Given the description of an element on the screen output the (x, y) to click on. 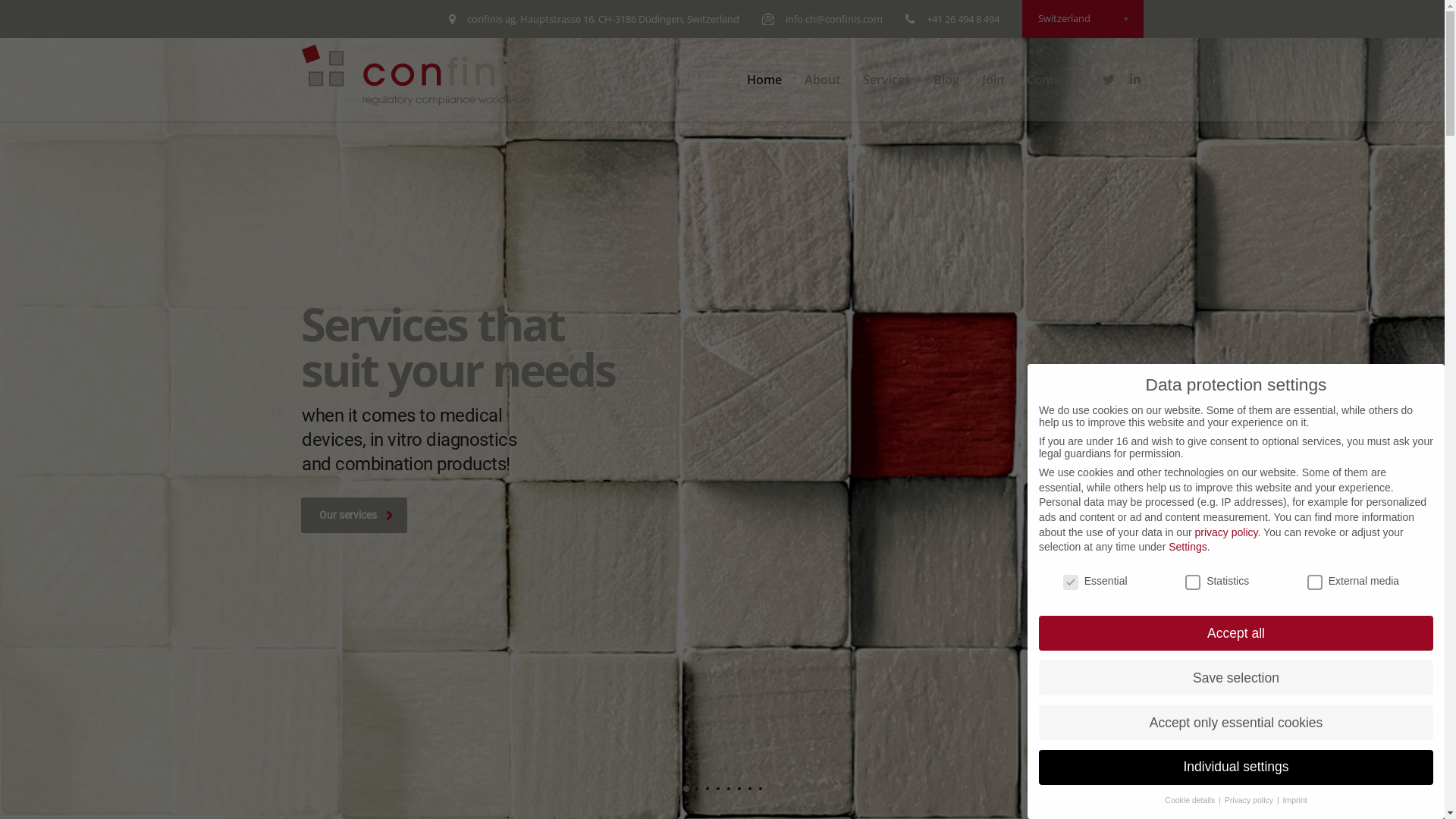
Contact Element type: text (1048, 79)
Settings Element type: text (1187, 546)
Accept only essential cookies Element type: text (1235, 722)
Accept all Element type: text (1235, 632)
Cookie details Element type: text (1190, 799)
  Element type: text (1136, 79)
Blog Element type: text (946, 79)
Home Element type: text (764, 79)
Our services Element type: text (354, 515)
Imprint Element type: text (1295, 799)
Save selection Element type: text (1235, 677)
Join Element type: text (992, 79)
  Element type: text (1109, 79)
Privacy policy Element type: text (1249, 799)
privacy policy Element type: text (1225, 532)
About Element type: text (822, 79)
Services Element type: text (885, 79)
Individual settings Element type: text (1235, 766)
